Given the description of an element on the screen output the (x, y) to click on. 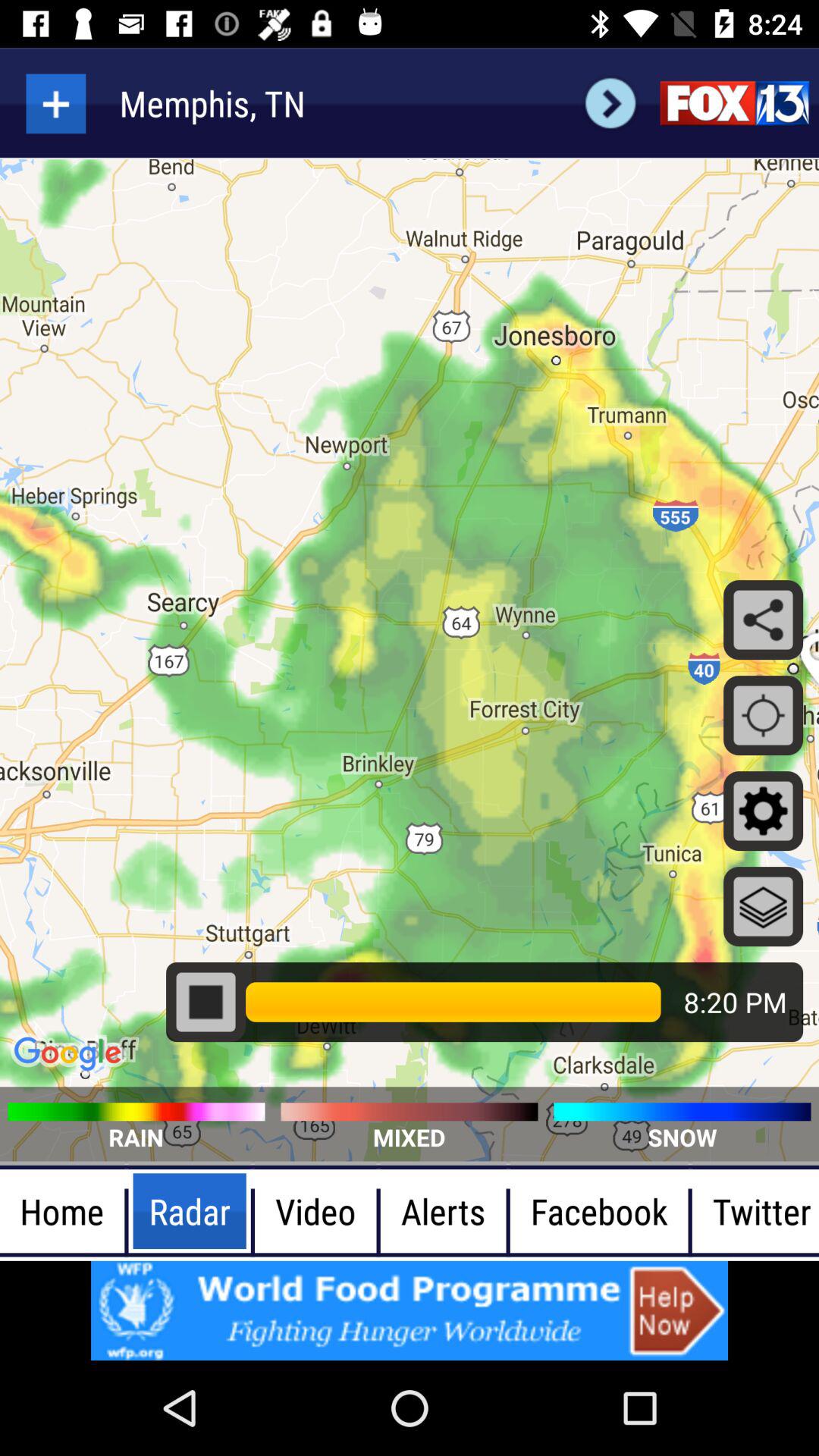
go to home page (734, 103)
